Given the description of an element on the screen output the (x, y) to click on. 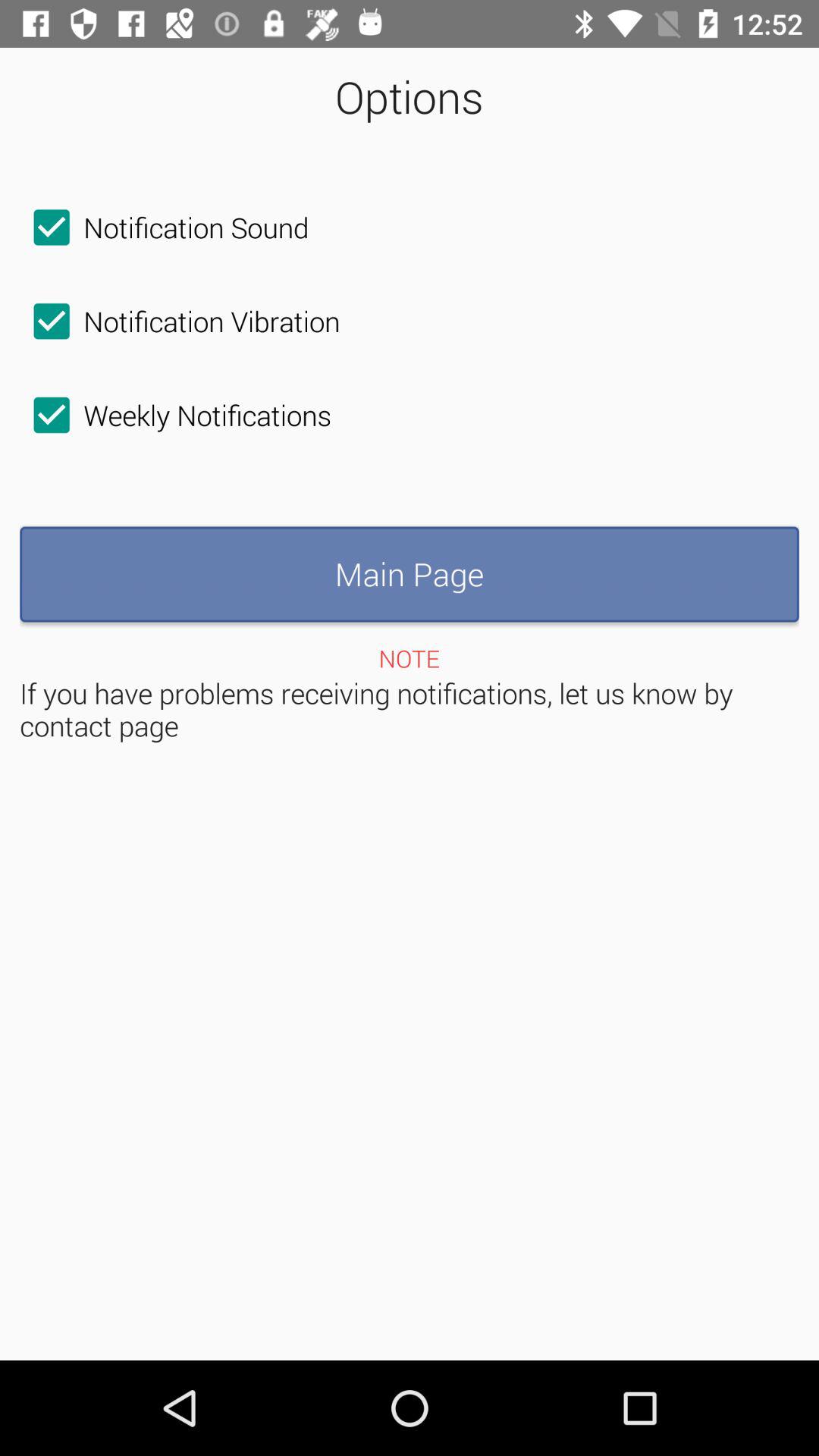
open the checkbox below the notification sound item (179, 321)
